Given the description of an element on the screen output the (x, y) to click on. 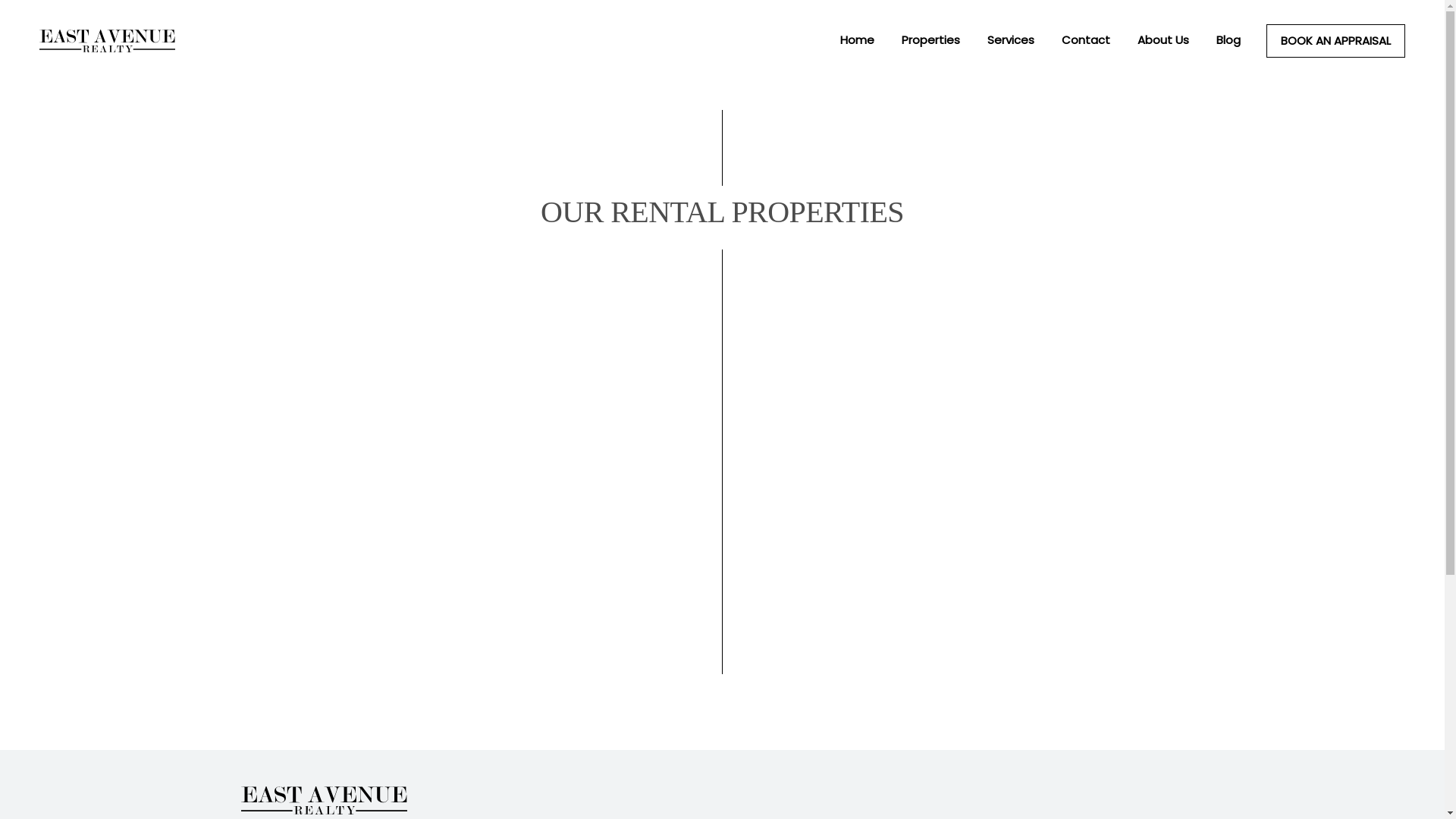
Home Element type: text (857, 40)
Properties Element type: text (930, 40)
About Us Element type: text (1162, 40)
Contact Element type: text (1085, 40)
BOOK AN APPRAISAL Element type: text (1335, 40)
Services Element type: text (1010, 40)
Blog Element type: text (1228, 40)
